Given the description of an element on the screen output the (x, y) to click on. 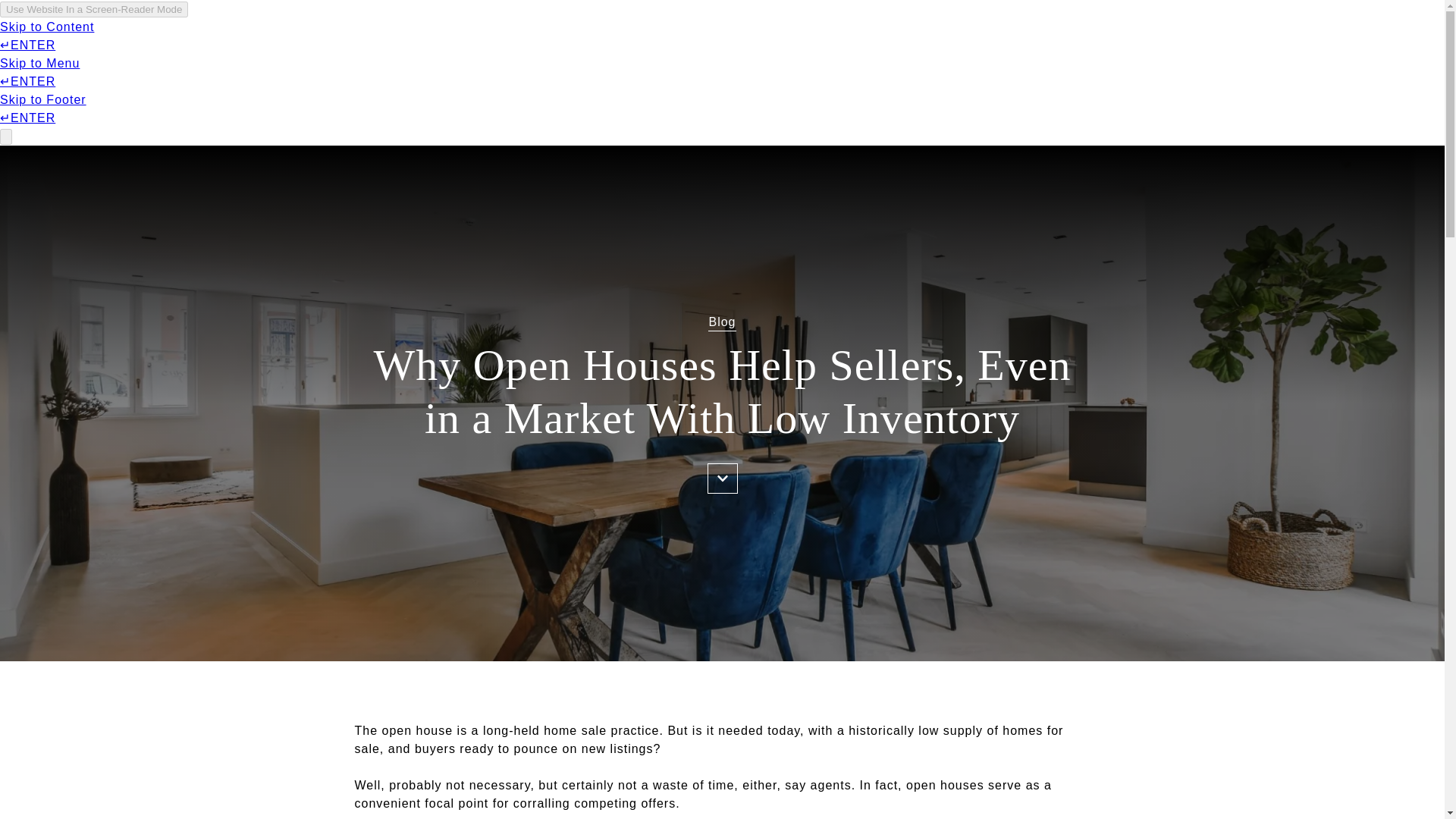
Neighborhoods (1121, 42)
Menu (197, 43)
Home Search (1003, 42)
Menu (187, 43)
About (262, 42)
